Given the description of an element on the screen output the (x, y) to click on. 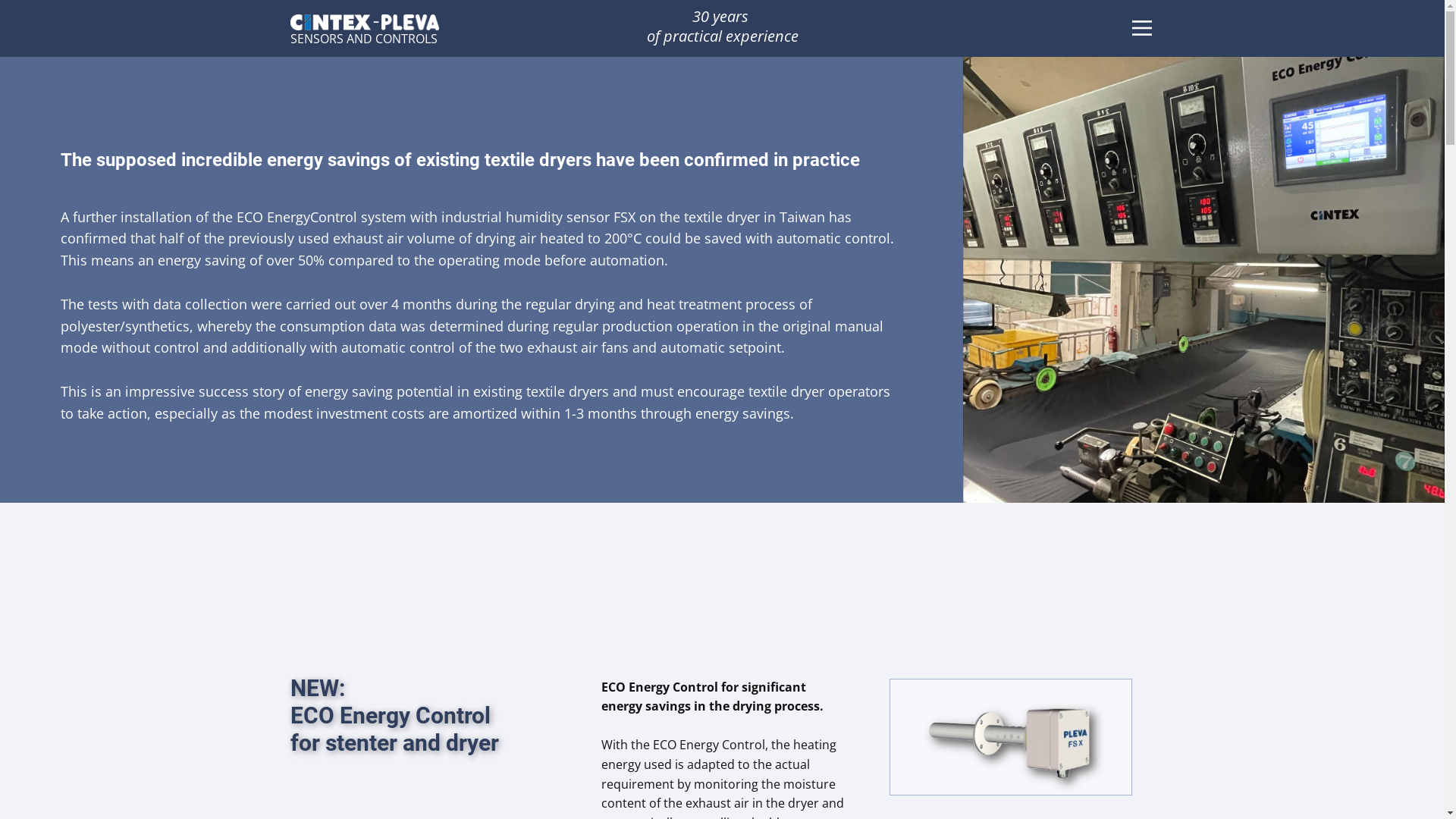
Home Element type: hover (363, 22)
